Given the description of an element on the screen output the (x, y) to click on. 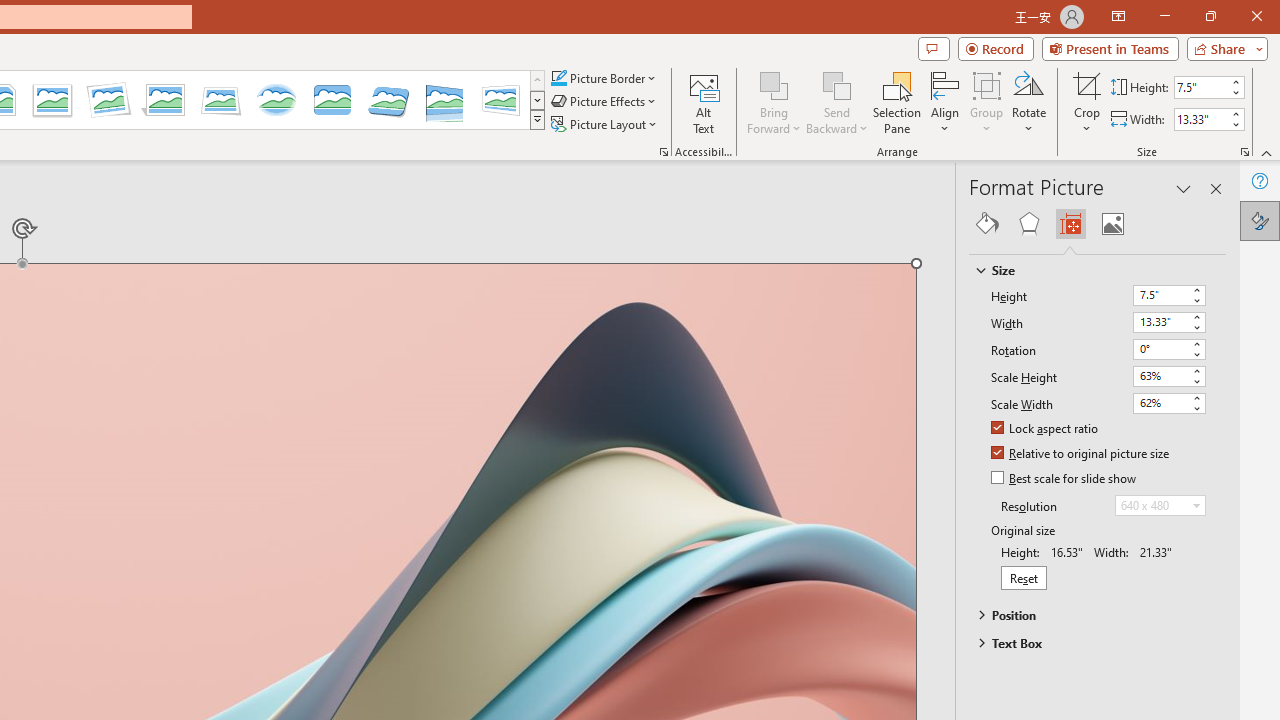
Soft Edge Oval (276, 100)
Scale Width (1160, 402)
Send Backward (836, 84)
Perspective Shadow, White (164, 100)
Bevel Perspective Left, White (500, 100)
Bring Forward (773, 102)
